Given the description of an element on the screen output the (x, y) to click on. 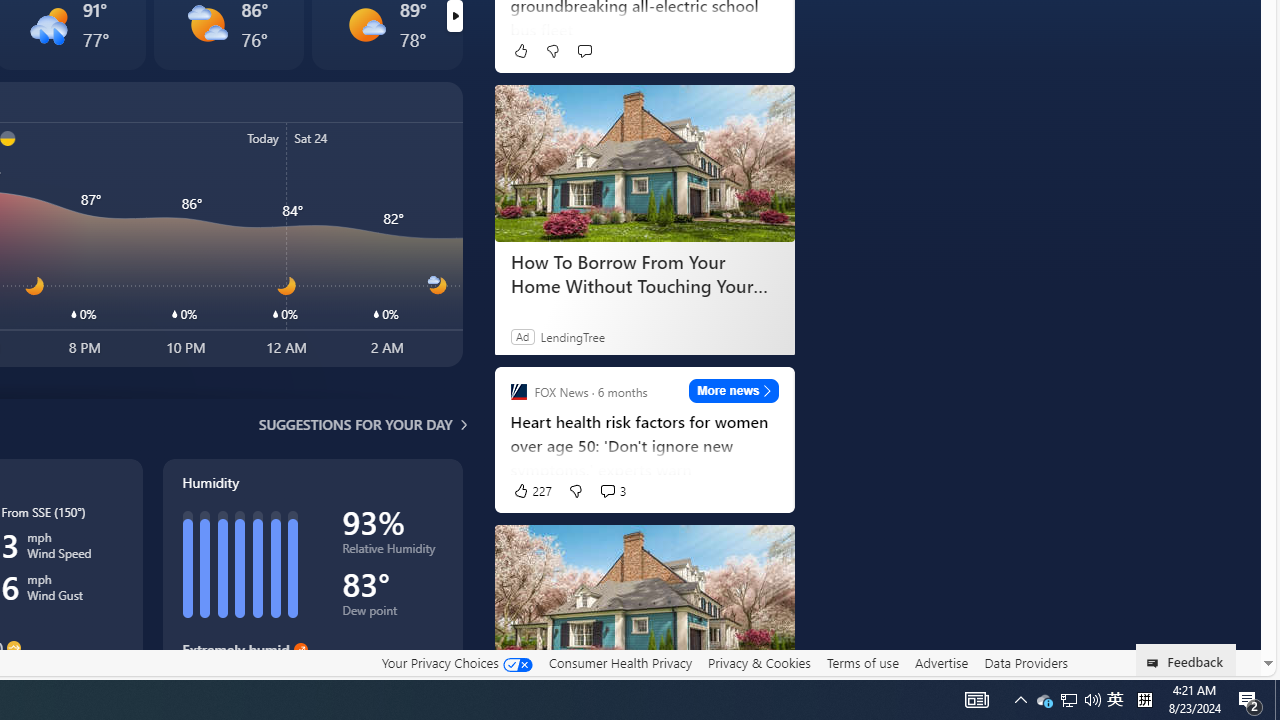
Increasing with a peak of 95% at 5:00 AM. (311, 678)
Dew point (391, 614)
Mostly sunny (365, 24)
Class: feedback_link_icon-DS-EntryPoint1-1 (1156, 663)
Switch right (454, 15)
Suggestions for your day (355, 424)
Relative Humidity (391, 552)
Humidity (312, 584)
Terms of use (861, 663)
Your Privacy Choices (456, 662)
